Given the description of an element on the screen output the (x, y) to click on. 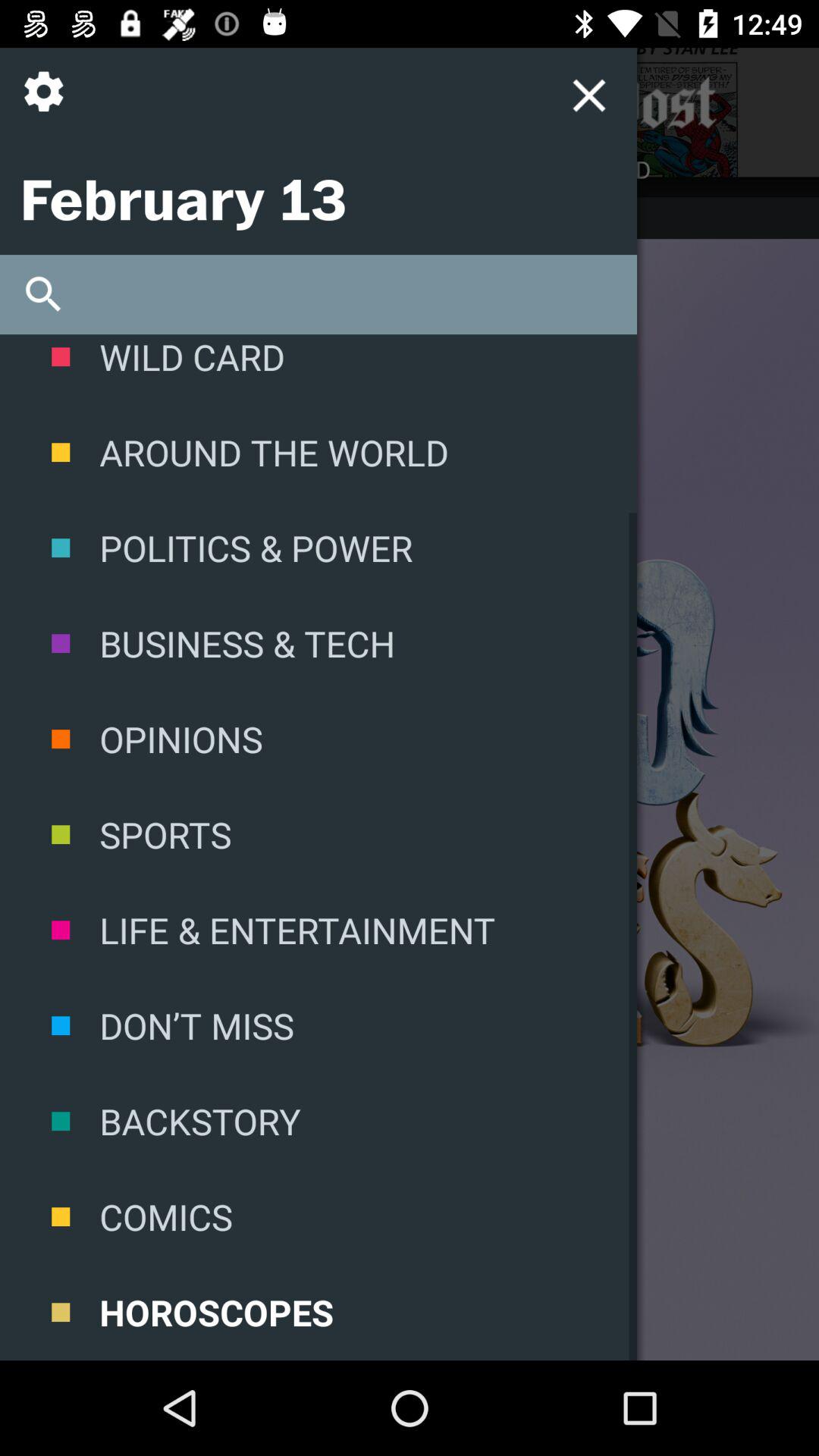
open app below business & tech app (318, 739)
